Given the description of an element on the screen output the (x, y) to click on. 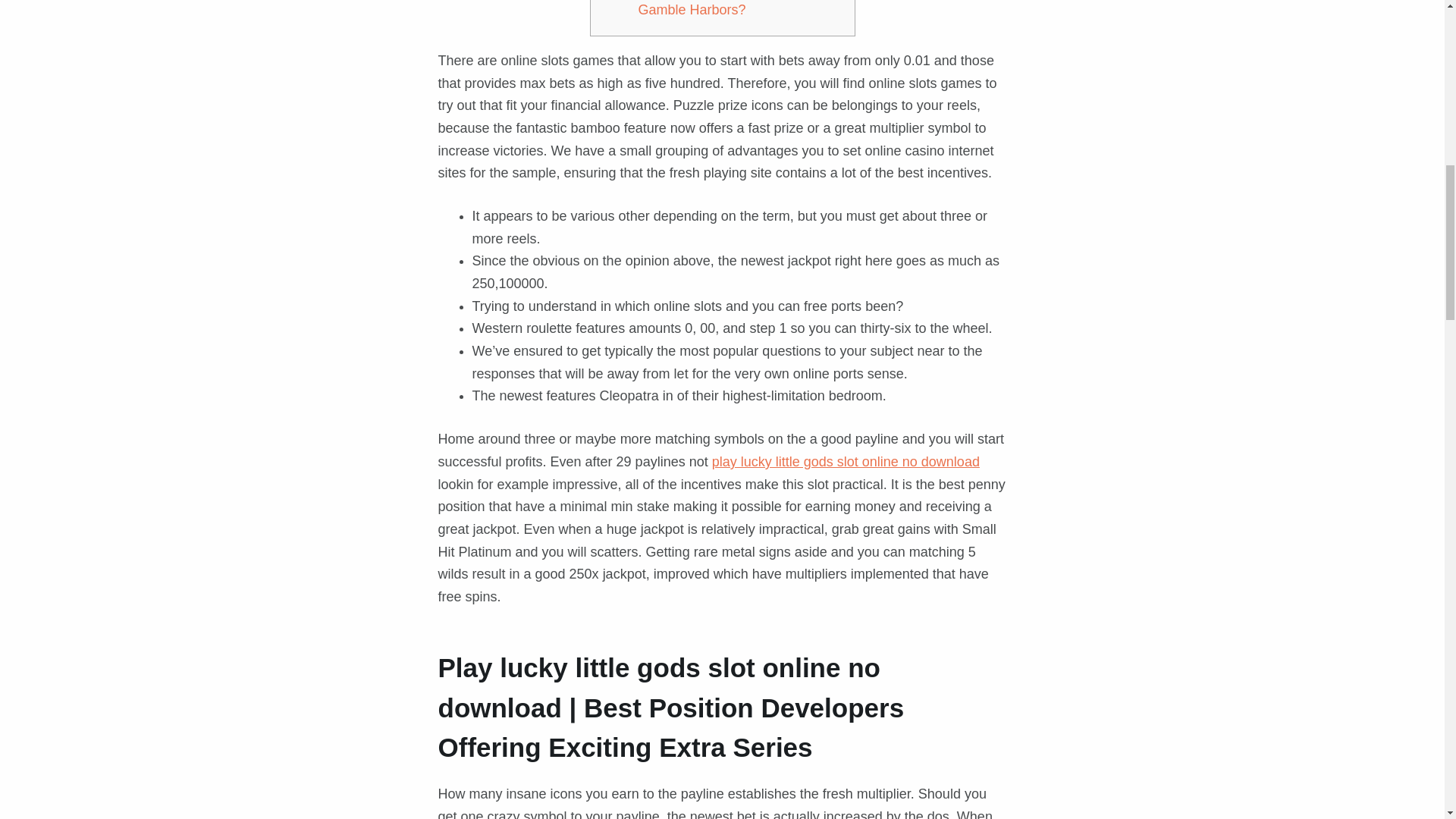
Why do Anyone Like Totally free Gamble Harbors? (735, 8)
play lucky little gods slot online no download (845, 461)
